Given the description of an element on the screen output the (x, y) to click on. 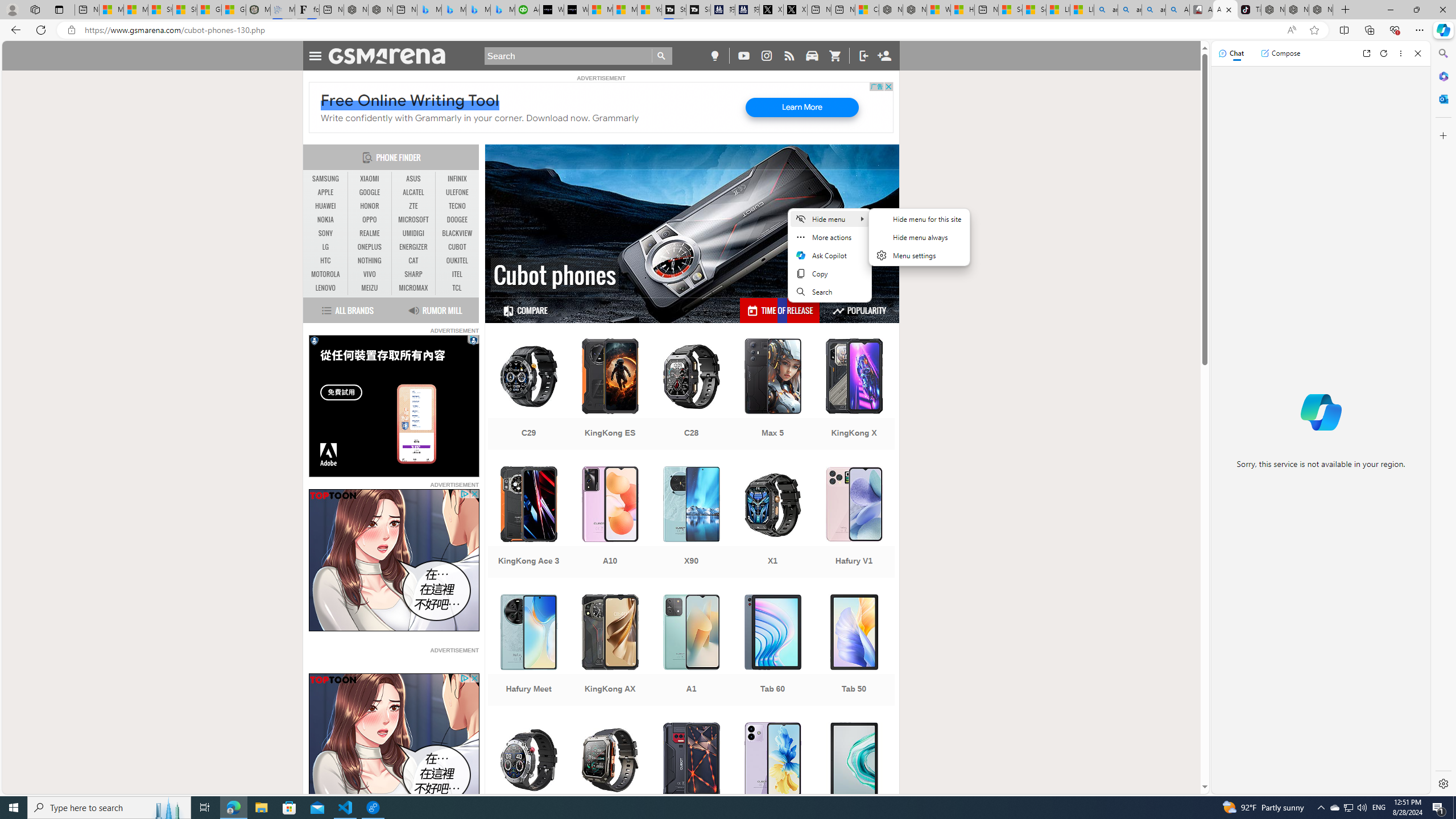
To get missing image descriptions, open the context menu. (393, 744)
HTC (325, 260)
Nordace - Summer Adventures 2024 (914, 9)
Customize (1442, 135)
INFINIX (457, 178)
VIVO (369, 273)
Hide menu for this site (919, 218)
